Given the description of an element on the screen output the (x, y) to click on. 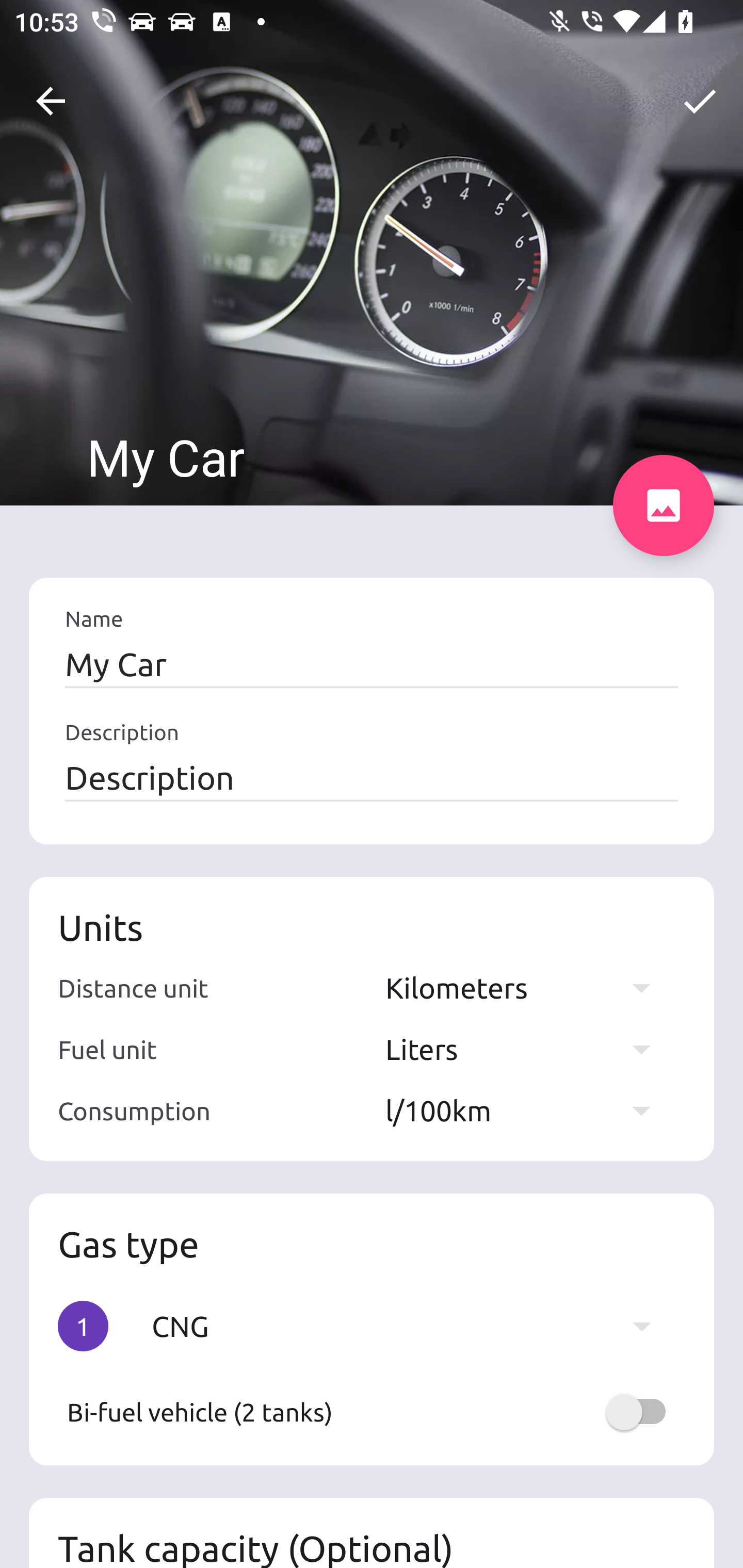
Navigate up (50, 101)
OK (699, 101)
My Car (371, 664)
Description (371, 777)
Kilometers (527, 987)
Liters (527, 1048)
l/100km (527, 1110)
CNG (411, 1325)
Bi-fuel vehicle (2 tanks) (371, 1411)
